Given the description of an element on the screen output the (x, y) to click on. 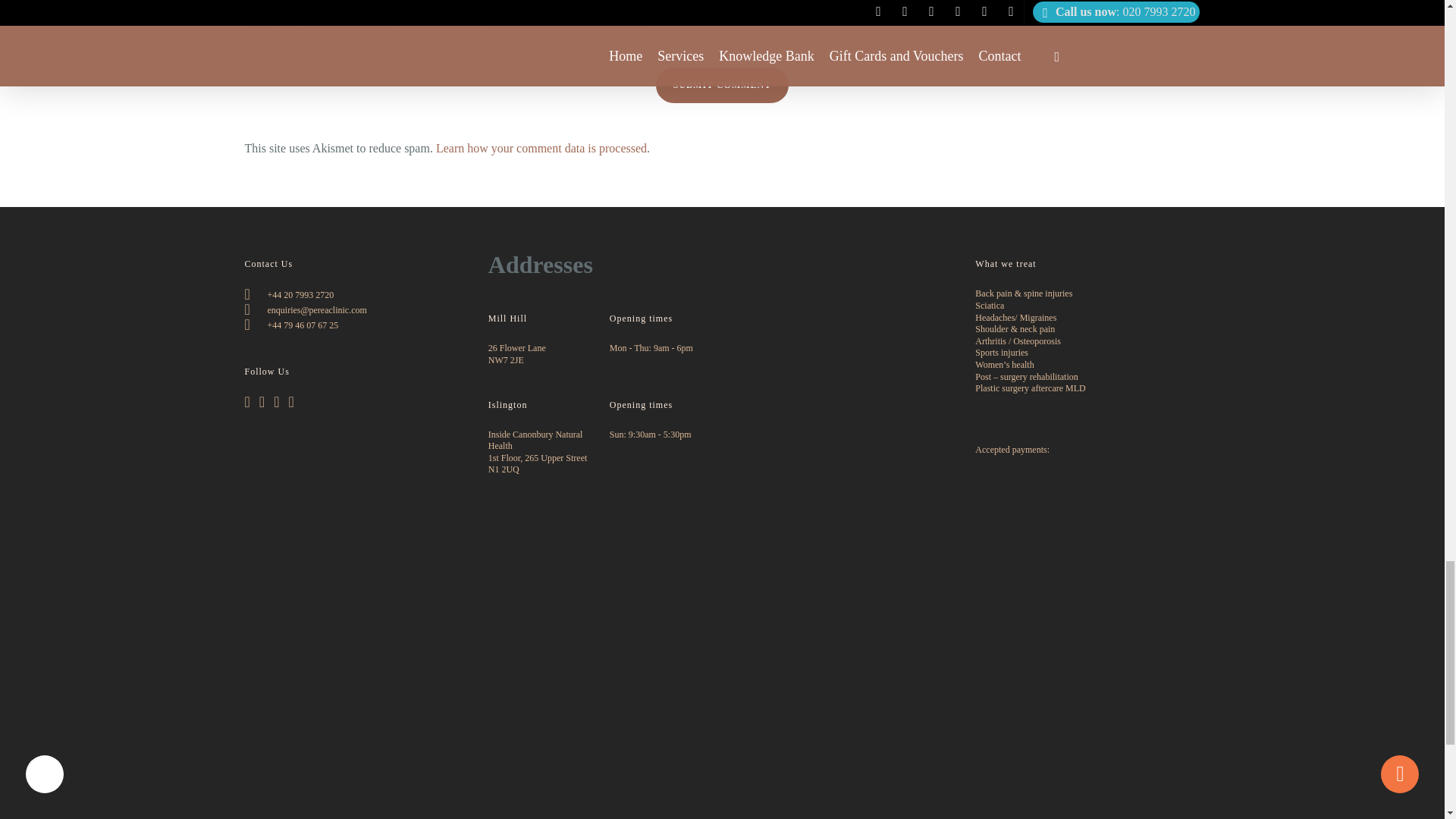
Submit Comment (722, 85)
yes (252, 22)
